Given the description of an element on the screen output the (x, y) to click on. 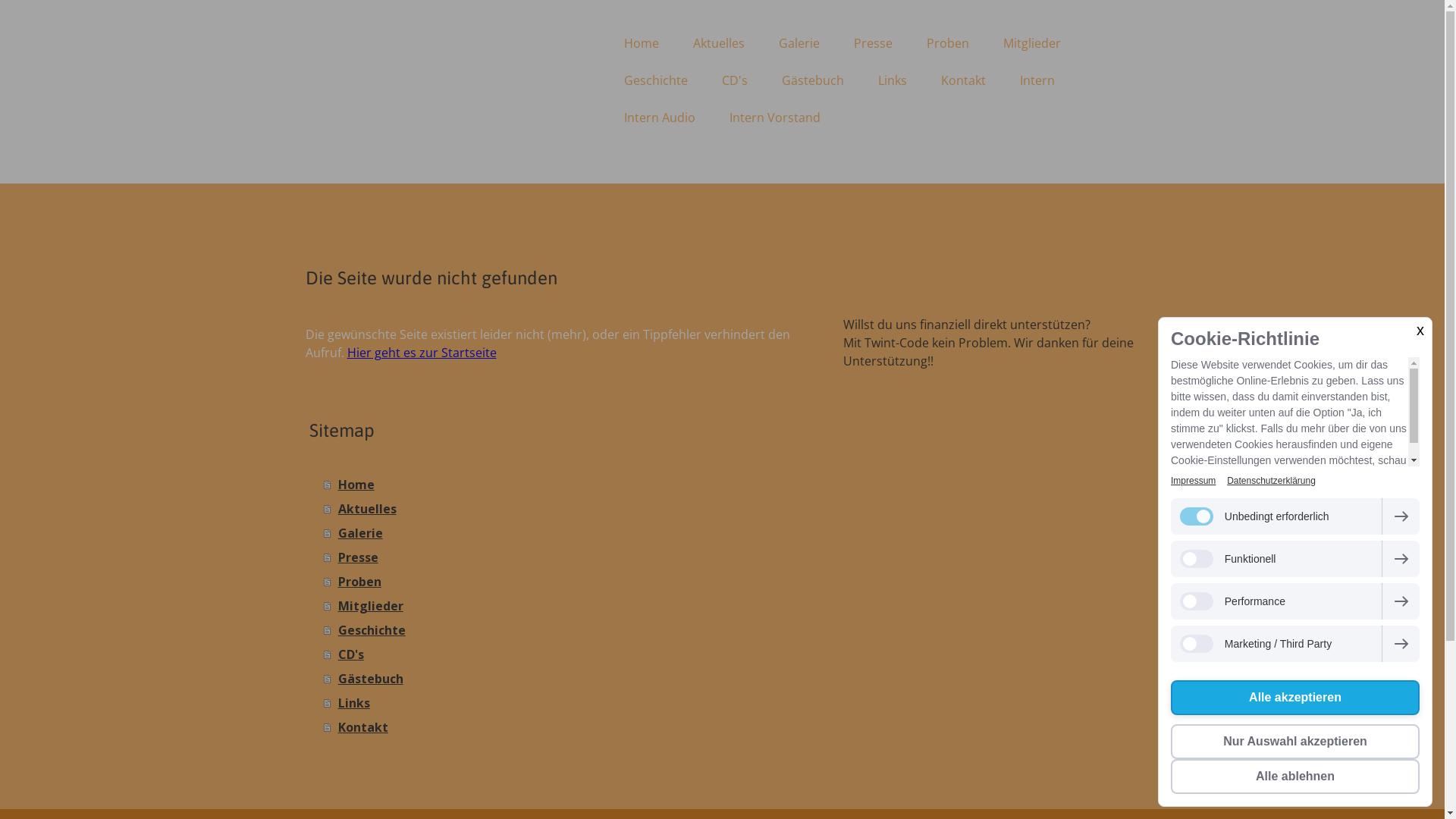
Mitglieder Element type: text (1031, 42)
CD's Element type: text (734, 80)
Galerie Element type: text (798, 42)
Home Element type: text (568, 484)
Geschichte Element type: text (655, 80)
Links Element type: text (568, 702)
Kontakt Element type: text (568, 727)
Alle akzeptieren Element type: text (1294, 697)
Home Element type: text (640, 42)
Aktuelles Element type: text (718, 42)
CD's Element type: text (568, 654)
Links Element type: text (892, 80)
Kontakt Element type: text (962, 80)
Presse Element type: text (872, 42)
Intern Element type: text (1036, 80)
Proben Element type: text (568, 581)
Intern Vorstand Element type: text (774, 117)
Nur Auswahl akzeptieren Element type: text (1294, 741)
Alle ablehnen Element type: text (1294, 776)
Aktuelles Element type: text (568, 508)
Presse Element type: text (568, 557)
Impressum Element type: text (1192, 480)
Galerie Element type: text (568, 532)
Hier geht es zur Startseite Element type: text (421, 352)
Proben Element type: text (947, 42)
Intern Audio Element type: text (658, 117)
Mitglieder Element type: text (568, 605)
Geschichte Element type: text (568, 630)
